Given the description of an element on the screen output the (x, y) to click on. 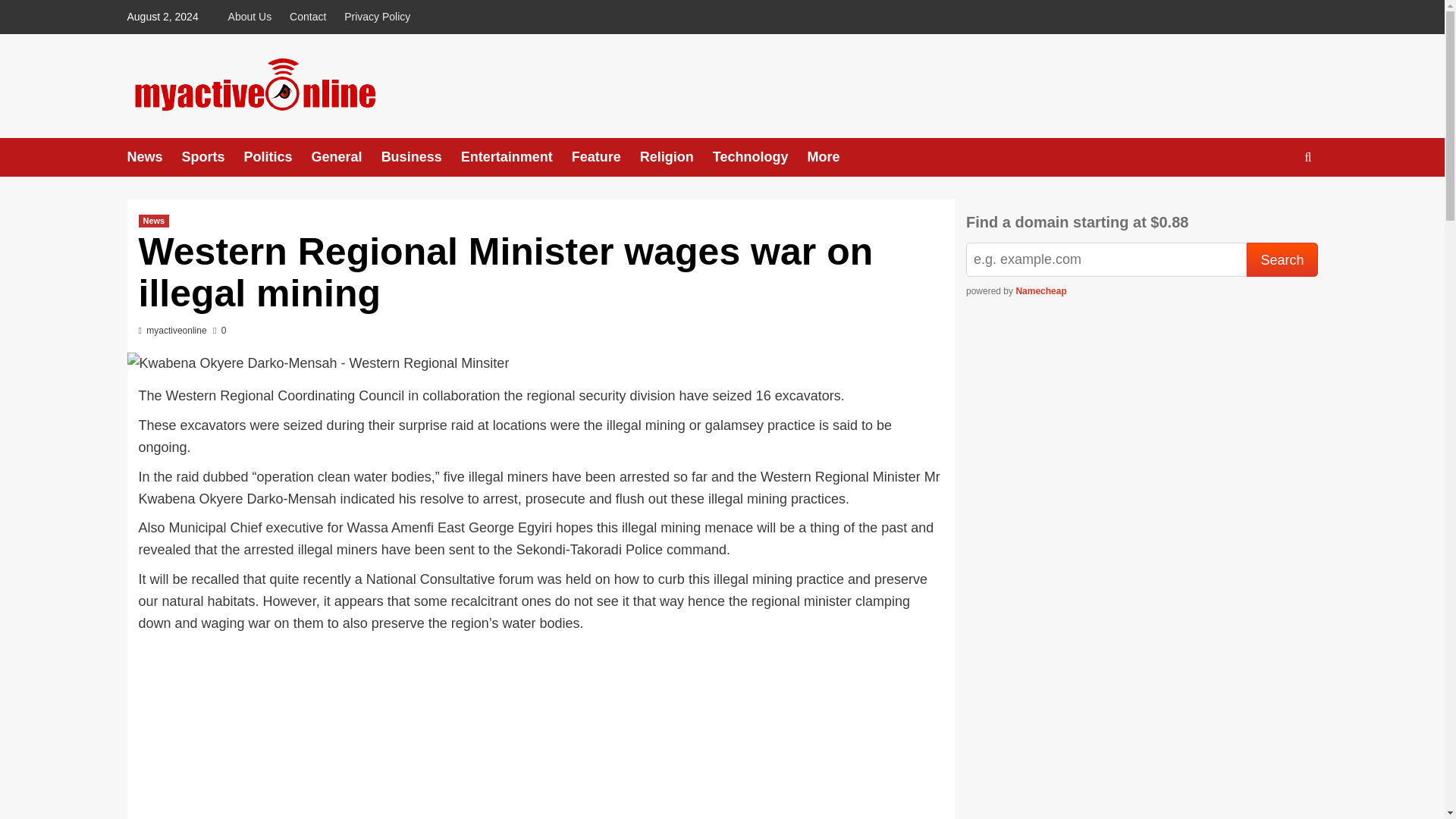
Search (1272, 203)
myactiveonline (176, 330)
Sports (213, 157)
Business (421, 157)
Contact (307, 17)
Search (1281, 259)
General (346, 157)
Entertainment (516, 157)
News (155, 157)
News (153, 220)
Privacy Policy (376, 17)
About Us (253, 17)
More (832, 157)
Technology (760, 157)
Religion (676, 157)
